Given the description of an element on the screen output the (x, y) to click on. 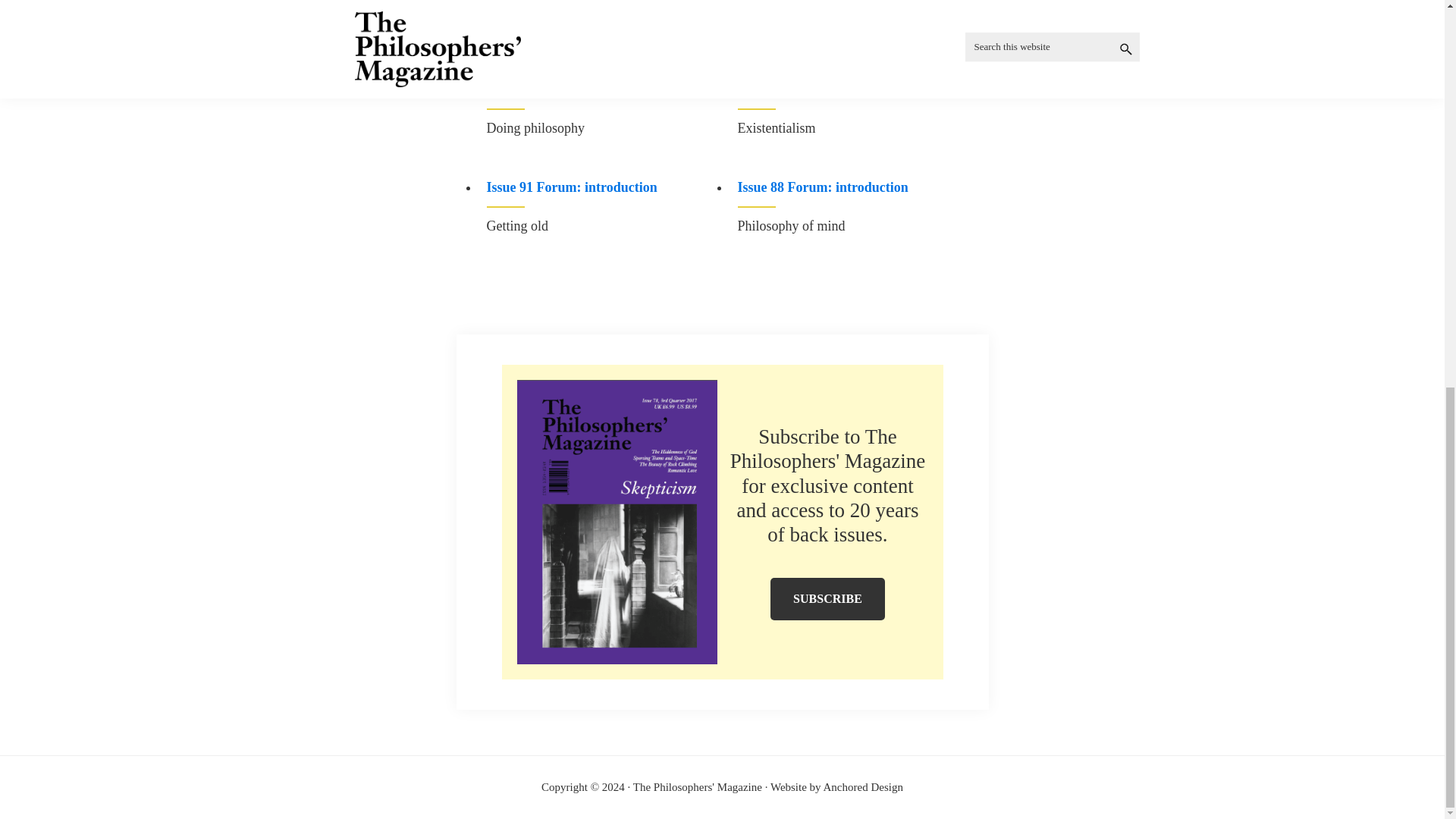
Website by Anchored Design (836, 787)
Issue 85 Forum: introduction (604, 93)
SUBSCRIBE (827, 598)
Issue 88 Forum: introduction (854, 192)
Issue 84 Forum: introduction (854, 93)
Issue 91 Forum: introduction (604, 192)
